Given the description of an element on the screen output the (x, y) to click on. 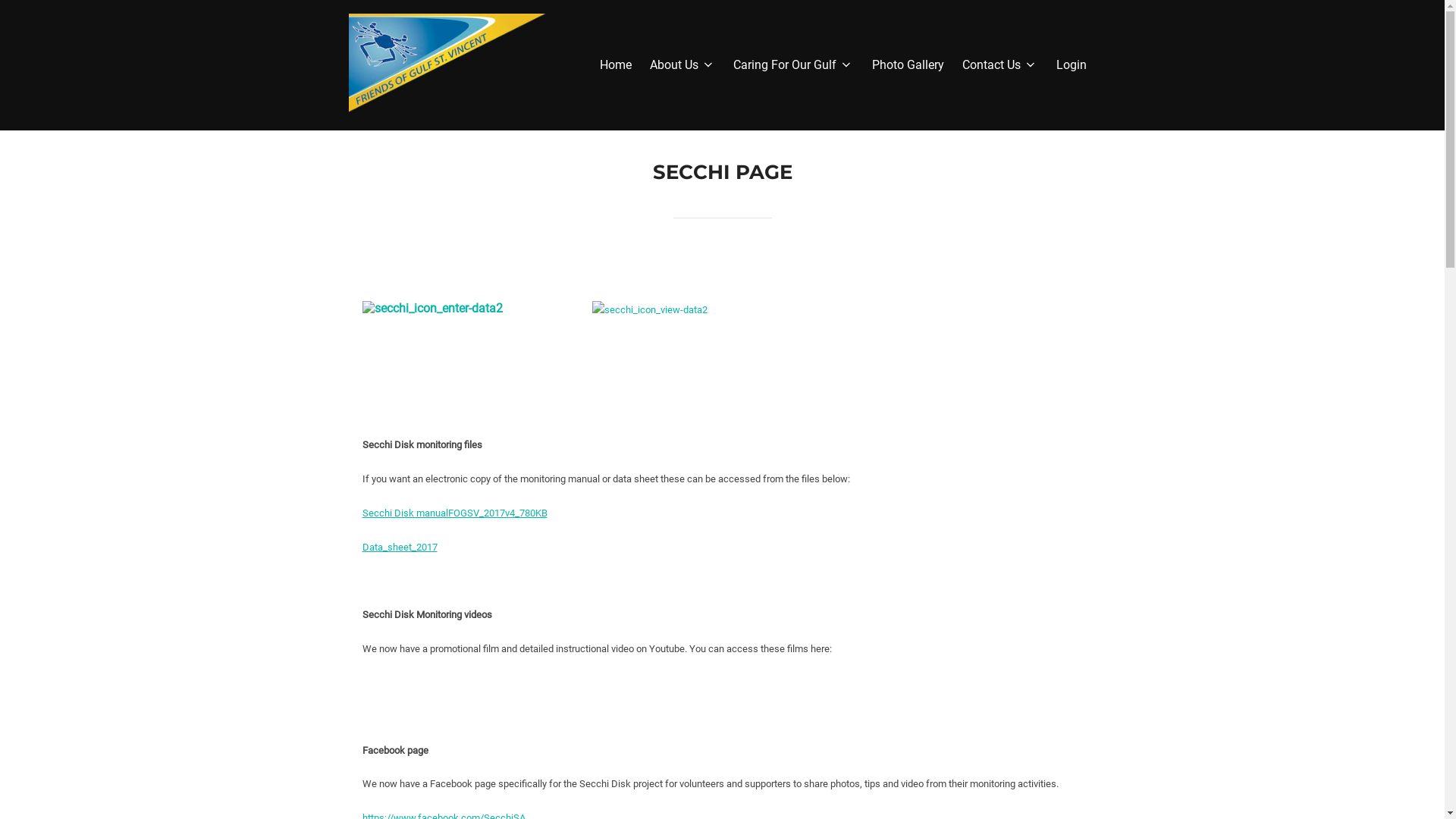
Caring For Our Gulf Element type: text (793, 64)
About Us Element type: text (682, 64)
Contact Us Element type: text (999, 64)
Secchi Disk manualFOGSV_2017v4_780KB Element type: text (454, 512)
Login Element type: text (1070, 64)
Photo Gallery Element type: text (908, 64)
Home Element type: text (615, 64)
Data_sheet_2017 Element type: text (399, 546)
